Given the description of an element on the screen output the (x, y) to click on. 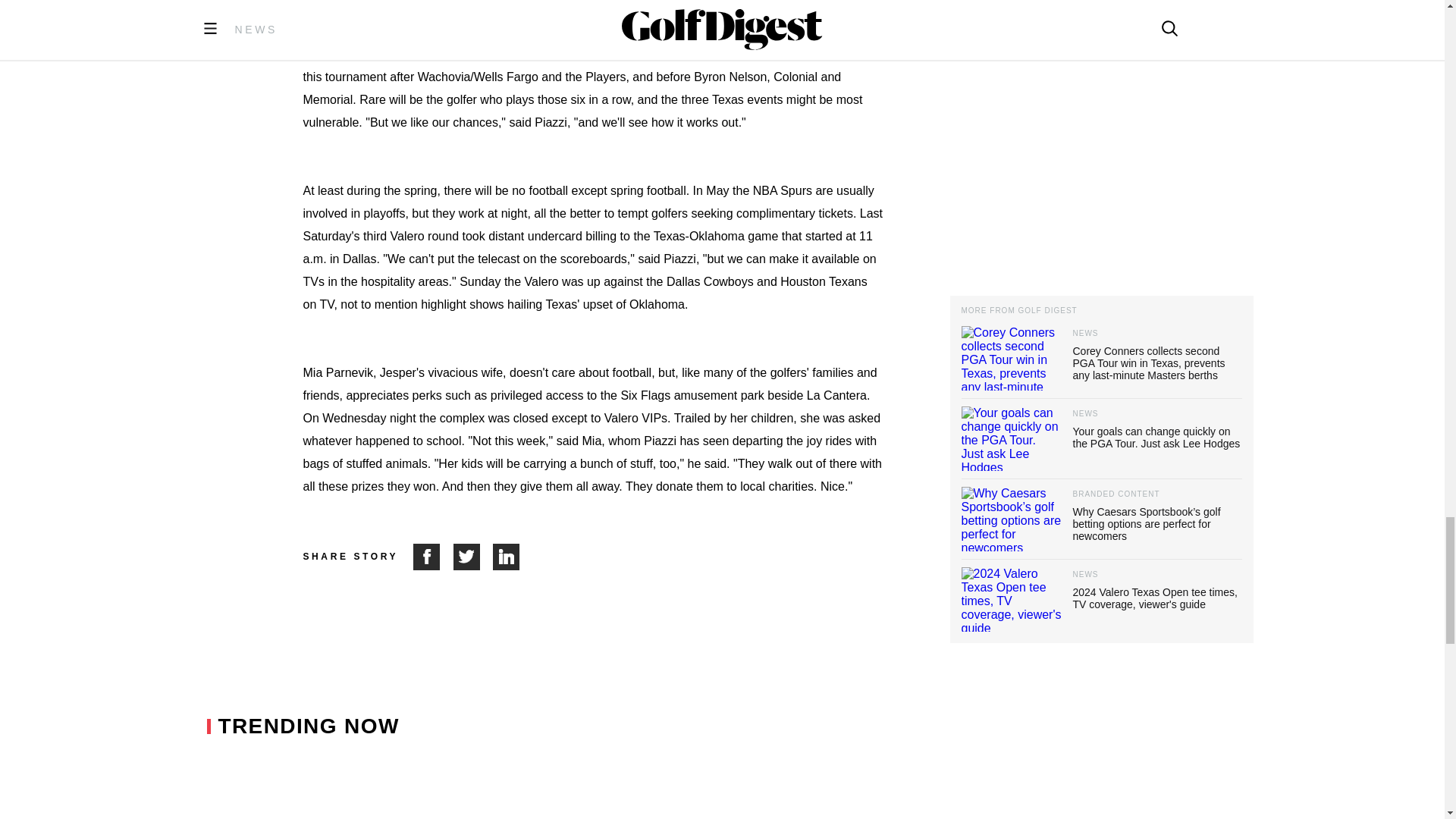
Share on LinkedIn (506, 556)
Share on Twitter (472, 556)
Share on Facebook (432, 556)
